Given the description of an element on the screen output the (x, y) to click on. 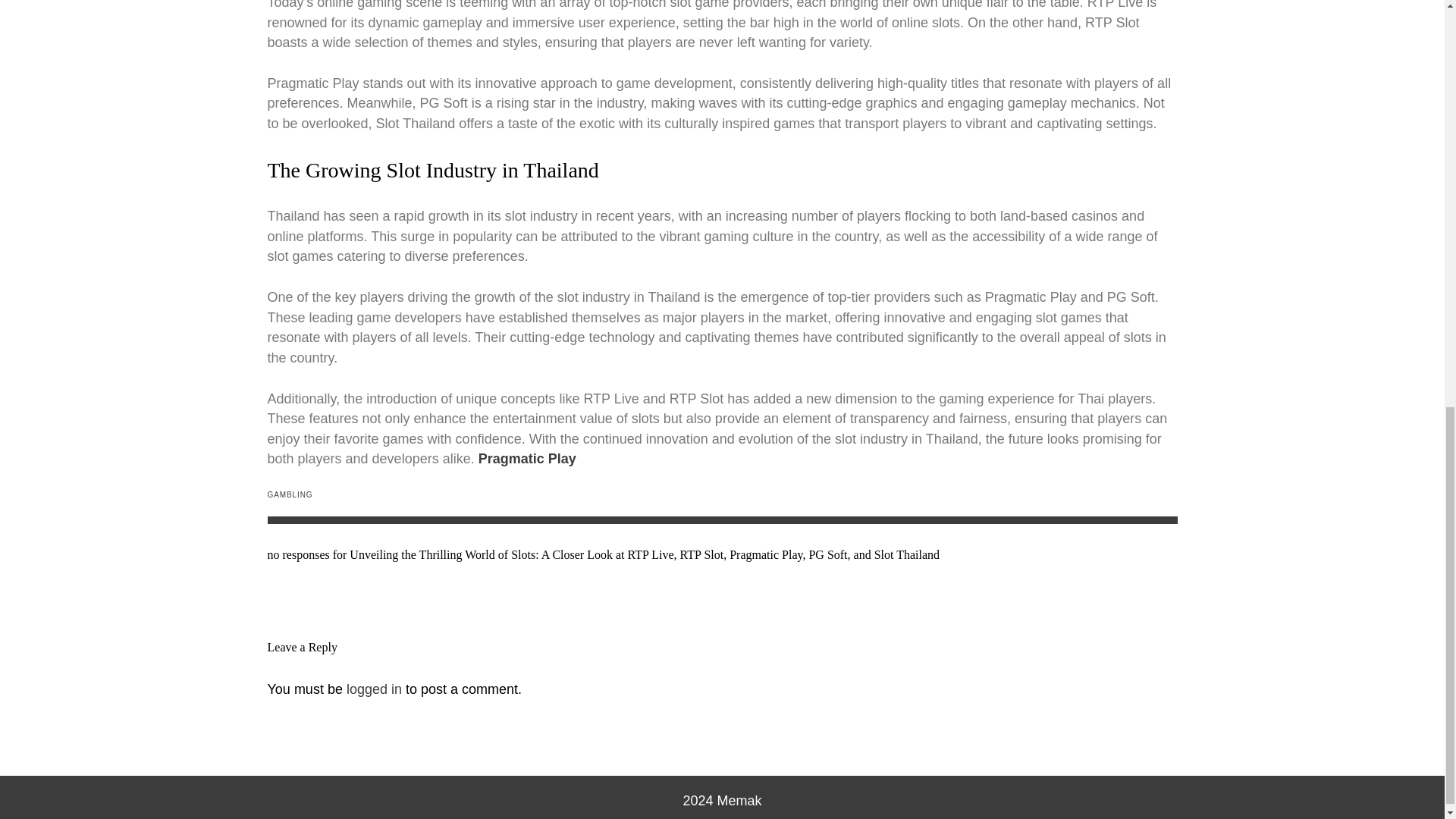
logged in (373, 688)
Pragmatic Play (527, 458)
GAMBLING (289, 494)
